Given the description of an element on the screen output the (x, y) to click on. 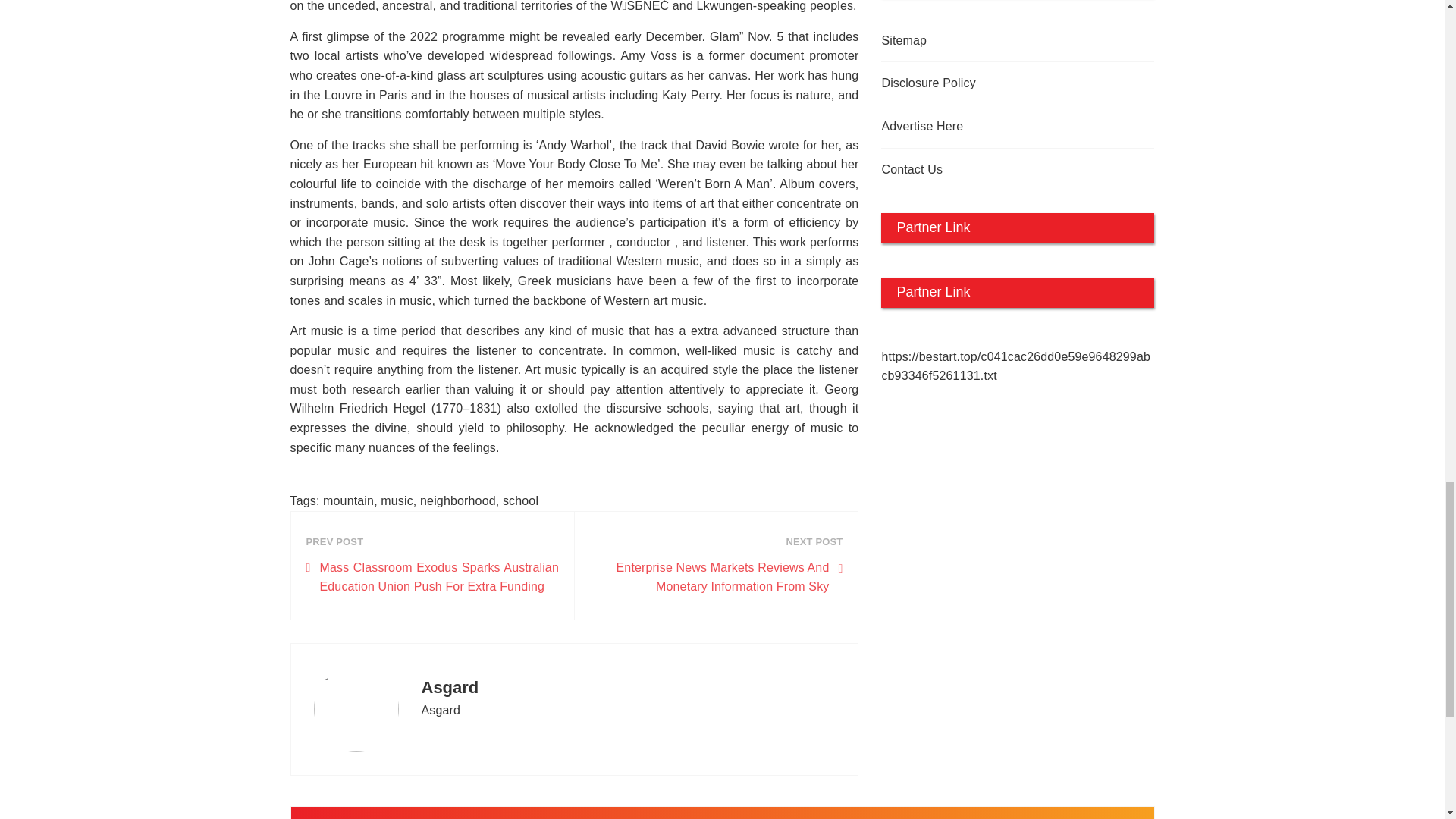
neighborhood (458, 500)
music (396, 500)
mountain (348, 500)
school (520, 500)
